Given the description of an element on the screen output the (x, y) to click on. 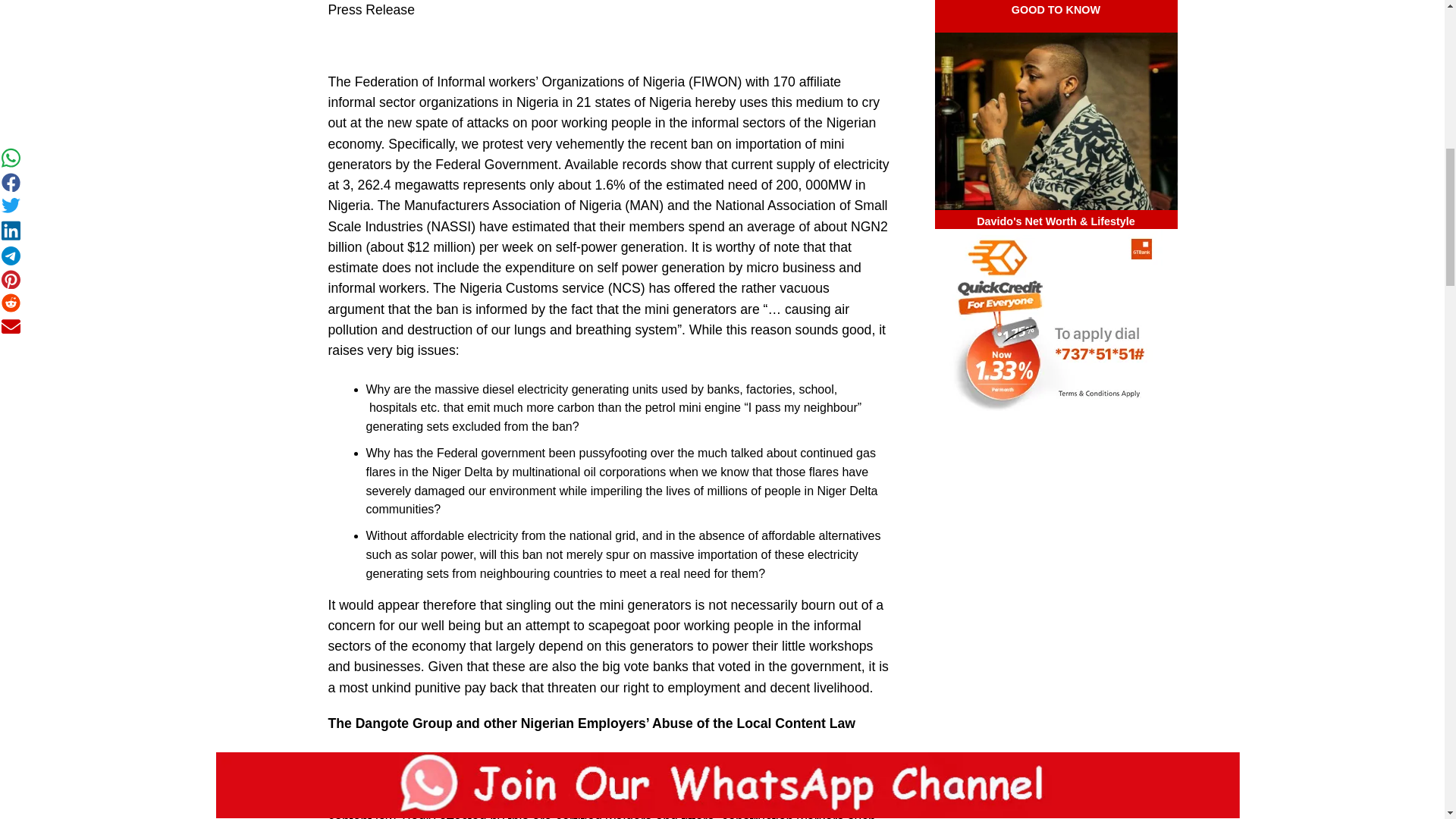
Davido Net Worth (1055, 120)
Davido Net Worth (1055, 114)
